Given the description of an element on the screen output the (x, y) to click on. 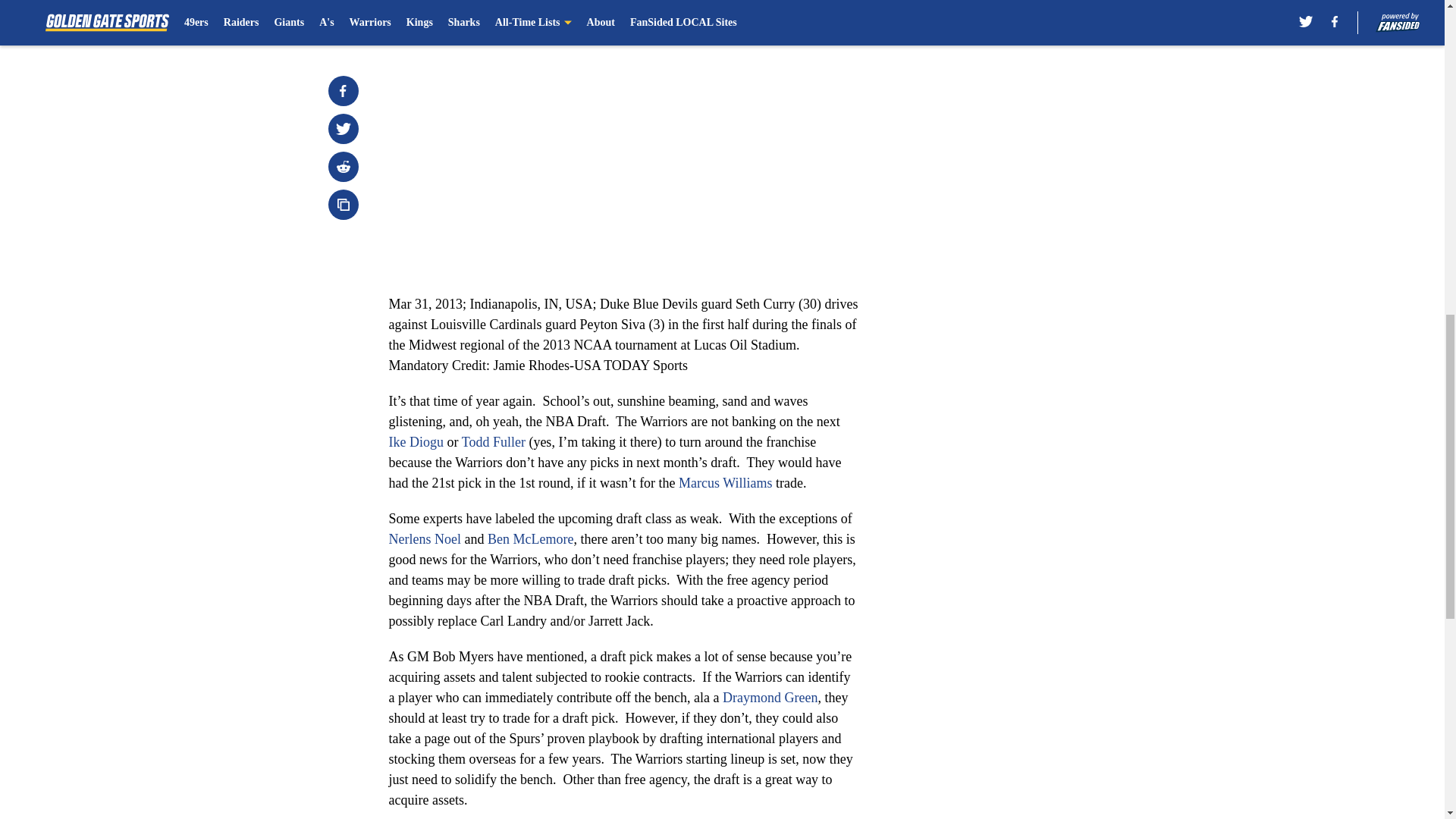
Ben McLemore (530, 539)
Ike Diogu (415, 441)
Draymond Green (769, 697)
Nerlens Noel (424, 539)
Marcus Williams (724, 482)
Todd Fuller (493, 441)
